Given the description of an element on the screen output the (x, y) to click on. 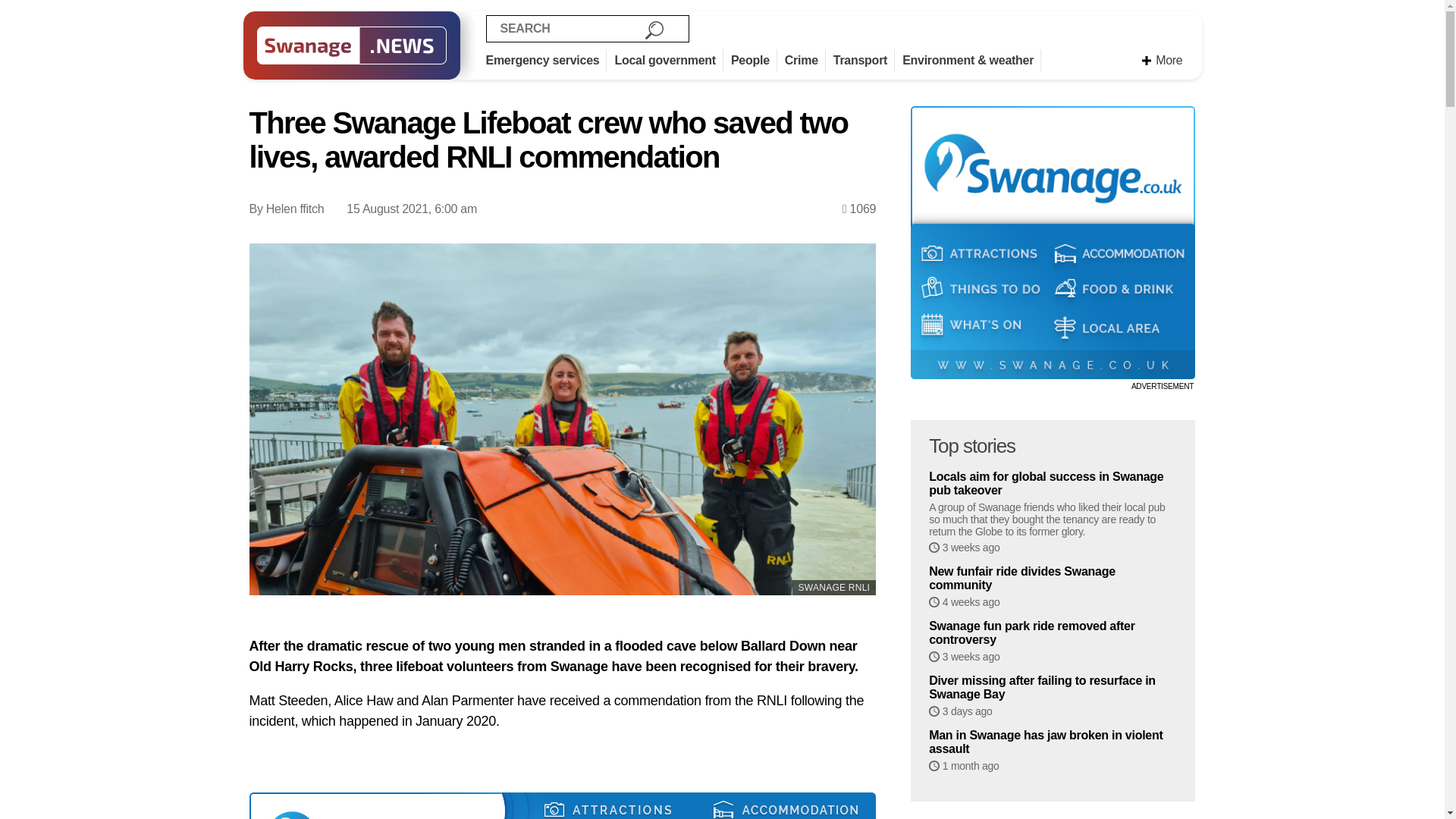
Local government (668, 60)
Emergency services (545, 60)
Transport (863, 60)
Crime (804, 60)
People (753, 60)
